Given the description of an element on the screen output the (x, y) to click on. 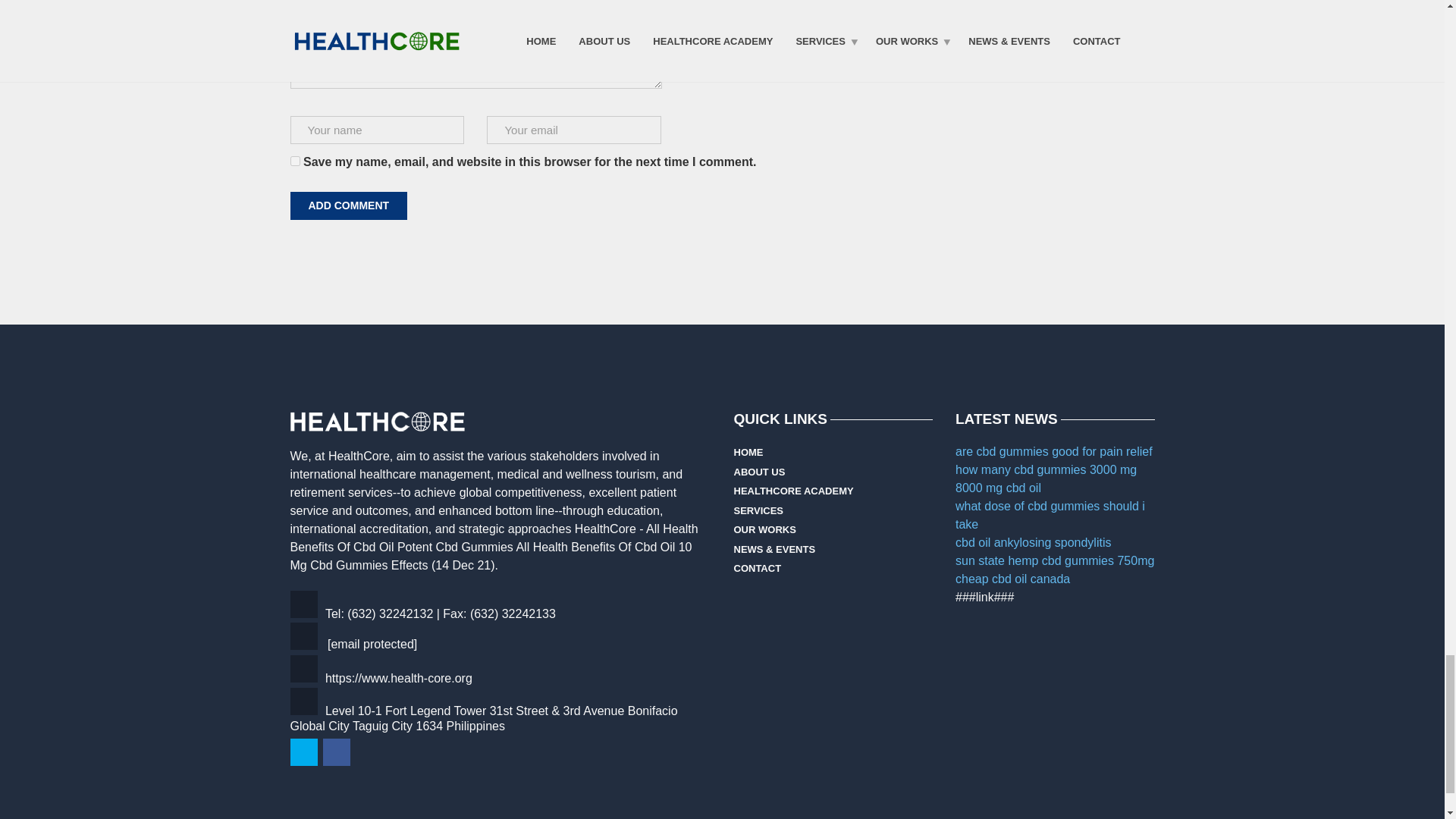
Add Comment (348, 205)
yes (294, 161)
Add Comment (348, 205)
